Given the description of an element on the screen output the (x, y) to click on. 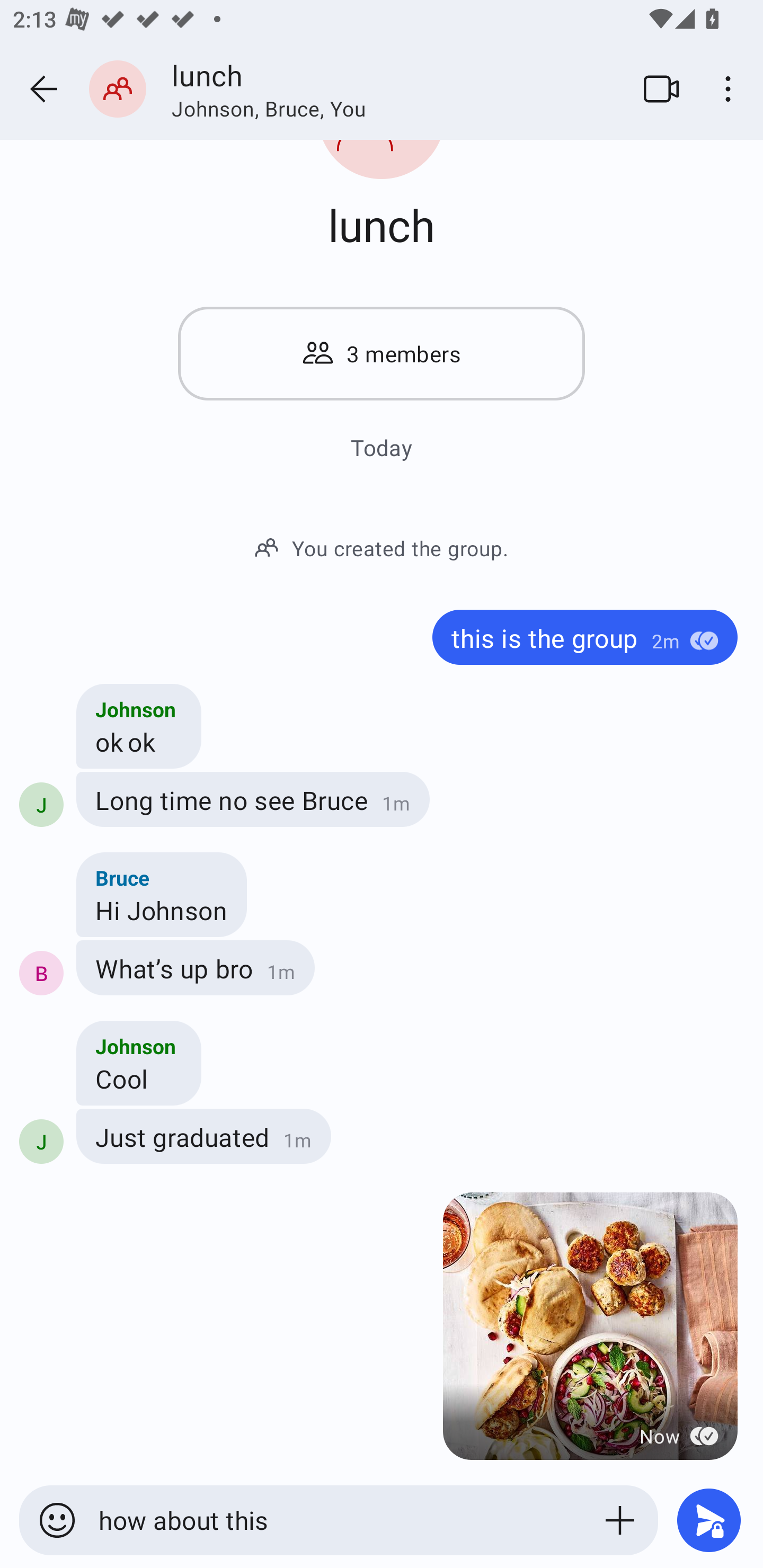
Send message (708, 1520)
